Given the description of an element on the screen output the (x, y) to click on. 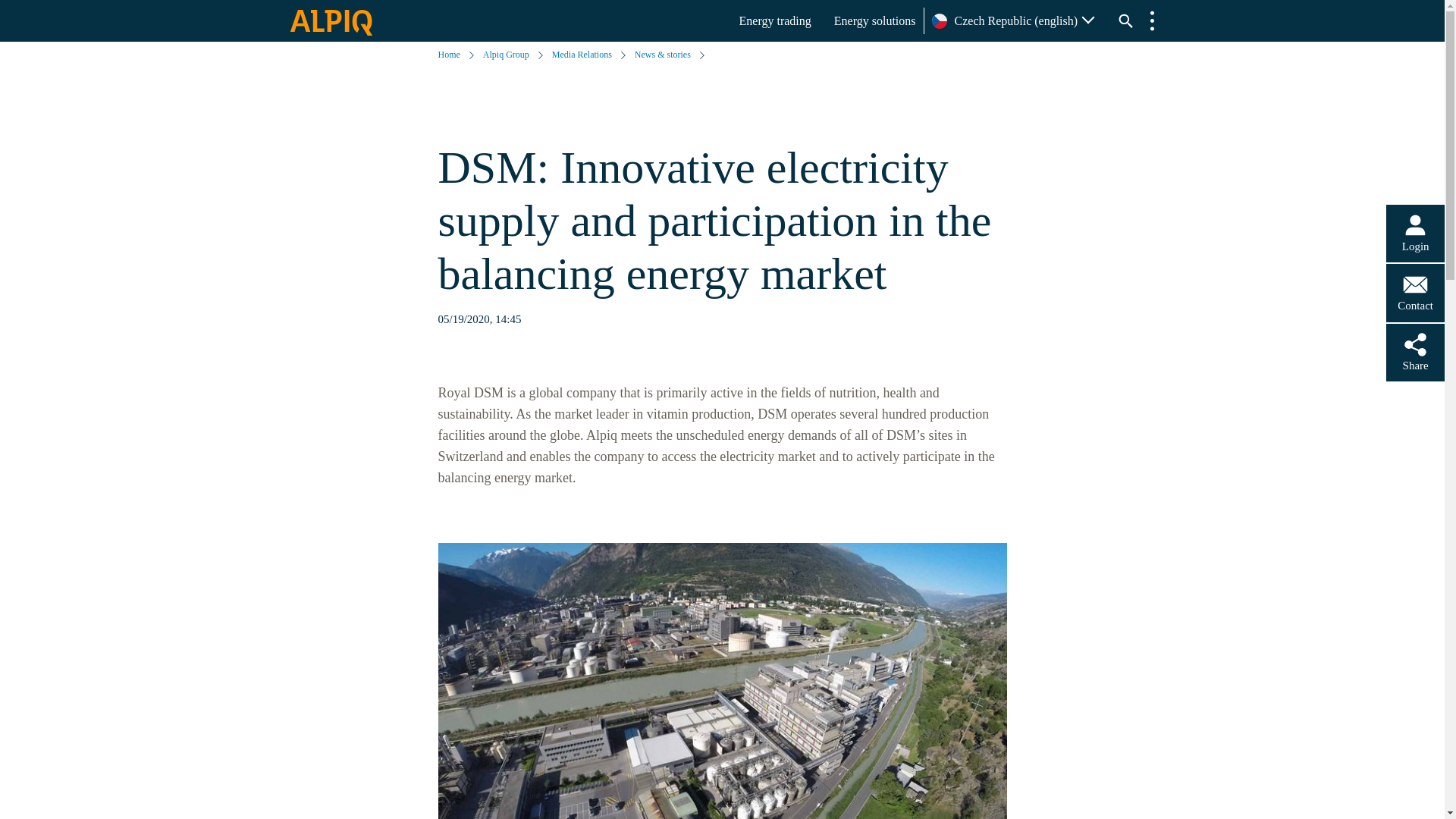
Energy trading (774, 20)
Energy solutions (874, 20)
